Given the description of an element on the screen output the (x, y) to click on. 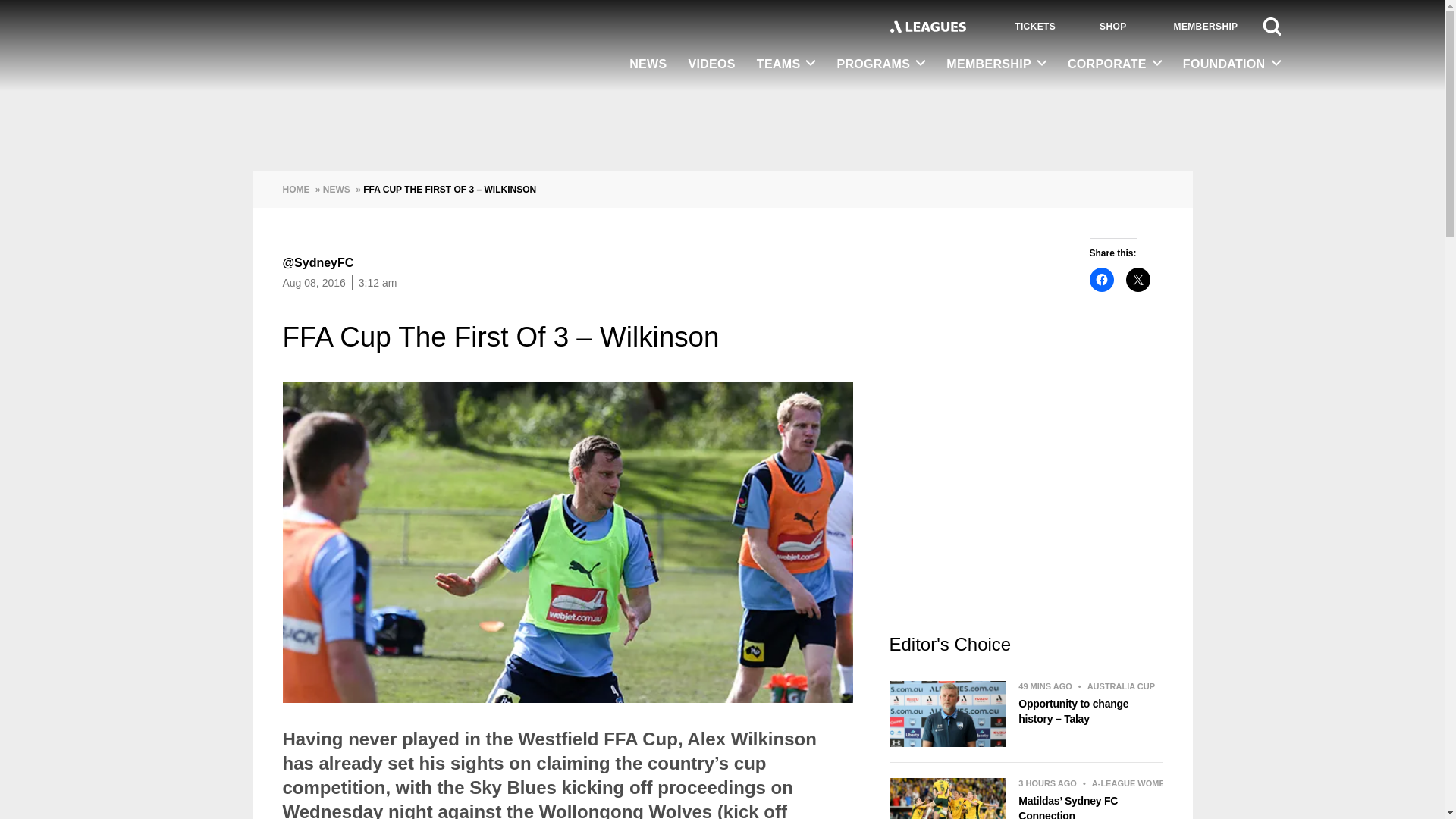
Click to share on Facebook (1101, 279)
TEAMS (786, 64)
VIDEOS (711, 65)
PROGRAMS (880, 64)
Click to share on X (1137, 279)
NEWS (647, 65)
